Given the description of an element on the screen output the (x, y) to click on. 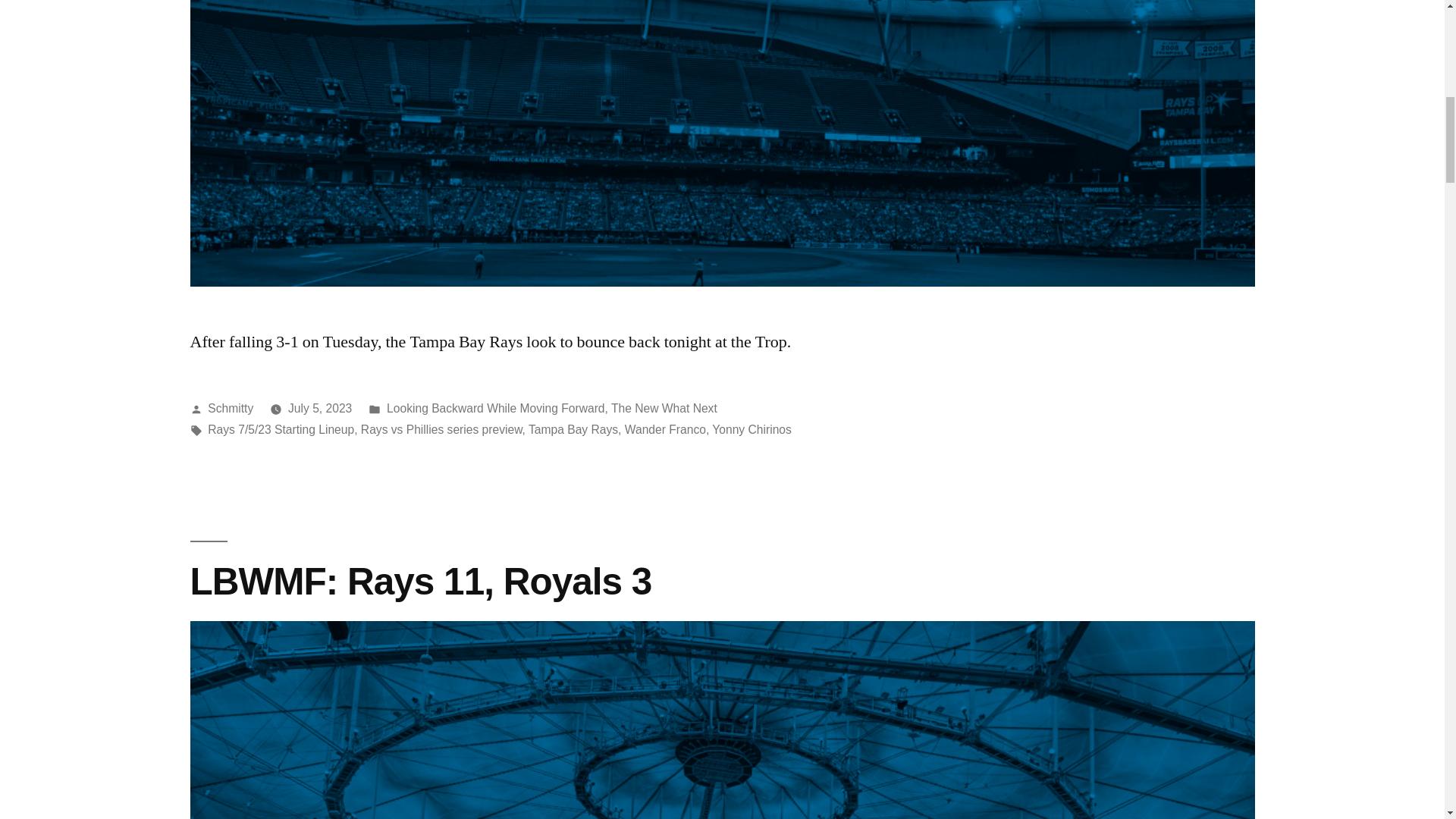
Rays vs Phillies series preview (441, 429)
Looking Backward While Moving Forward (495, 408)
July 5, 2023 (320, 408)
Yonny Chirinos (751, 429)
Tampa Bay Rays (572, 429)
Wander Franco (665, 429)
The New What Next (664, 408)
Schmitty (230, 408)
LBWMF: Rays 11, Royals 3 (419, 580)
